Given the description of an element on the screen output the (x, y) to click on. 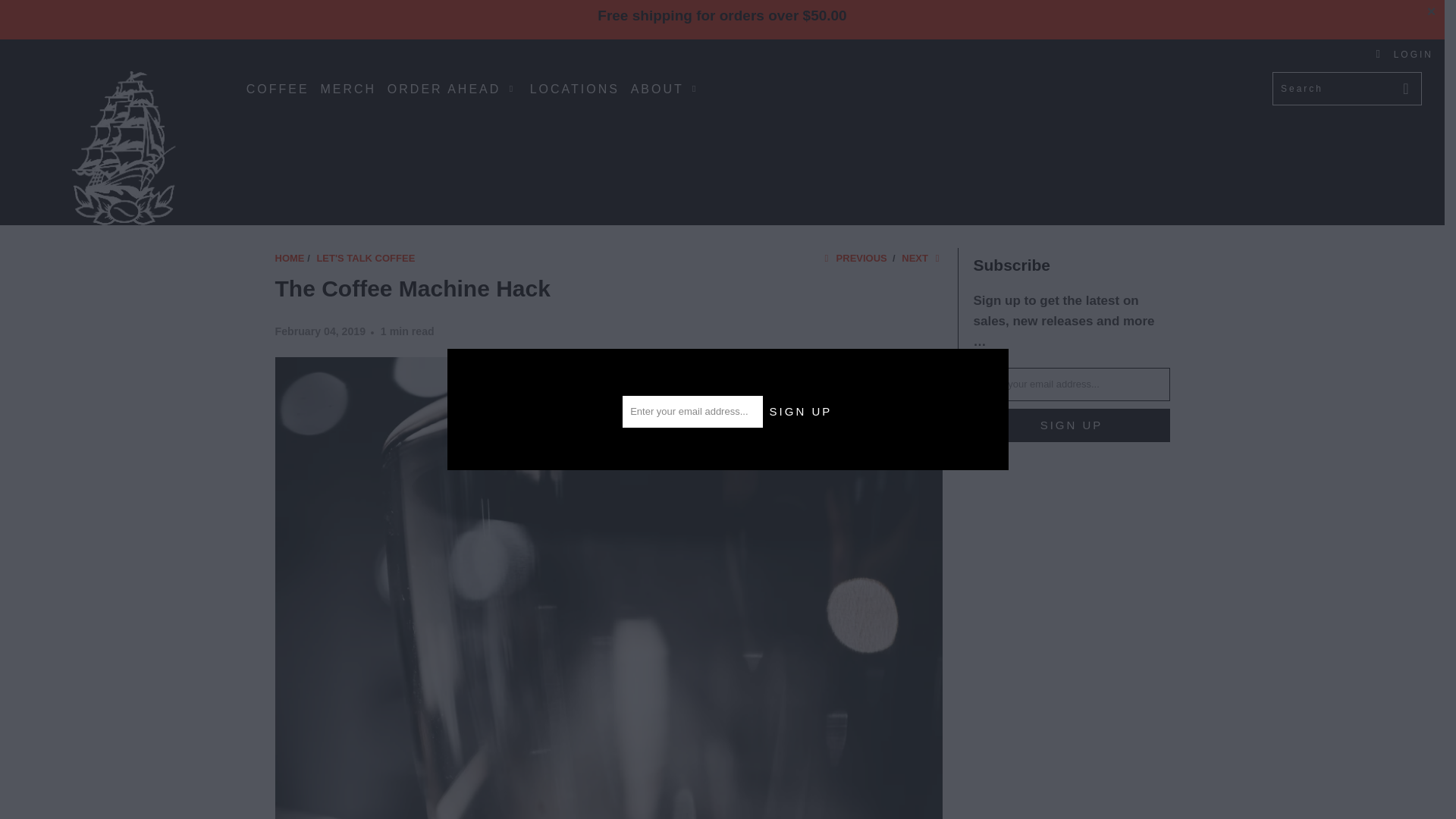
Sign Up (1072, 425)
My Account  (1404, 54)
ABOUT (665, 88)
LOCATIONS (574, 88)
ORDER AHEAD (452, 88)
Seven Seas Roasting Co. (289, 257)
HOME (289, 257)
Seven Seas Roasting Co. (122, 147)
LOGIN (1404, 54)
Sign Up (800, 411)
